Given the description of an element on the screen output the (x, y) to click on. 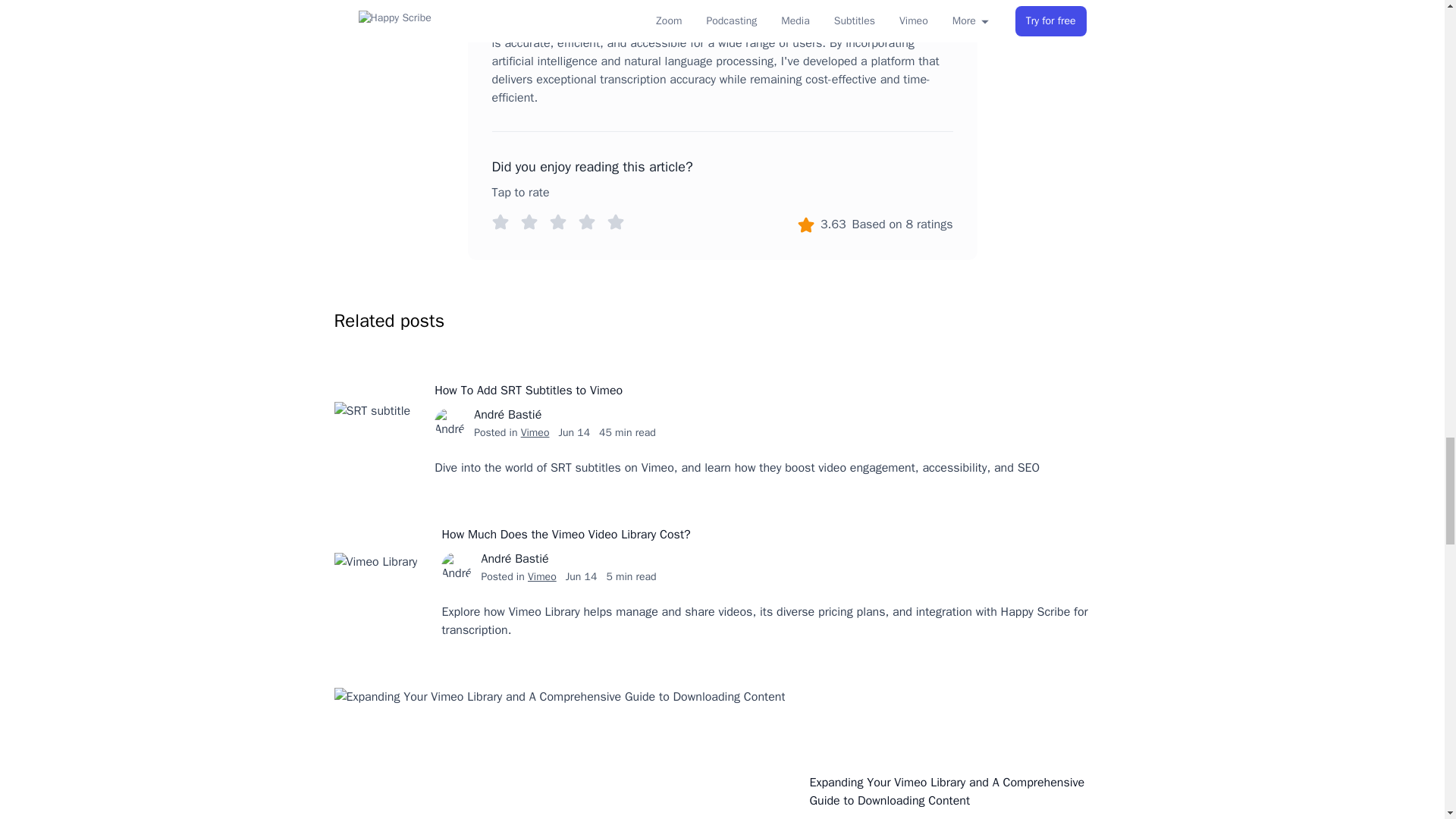
How To Add SRT Subtitles to Vimeo (736, 390)
Vimeo (535, 431)
